Given the description of an element on the screen output the (x, y) to click on. 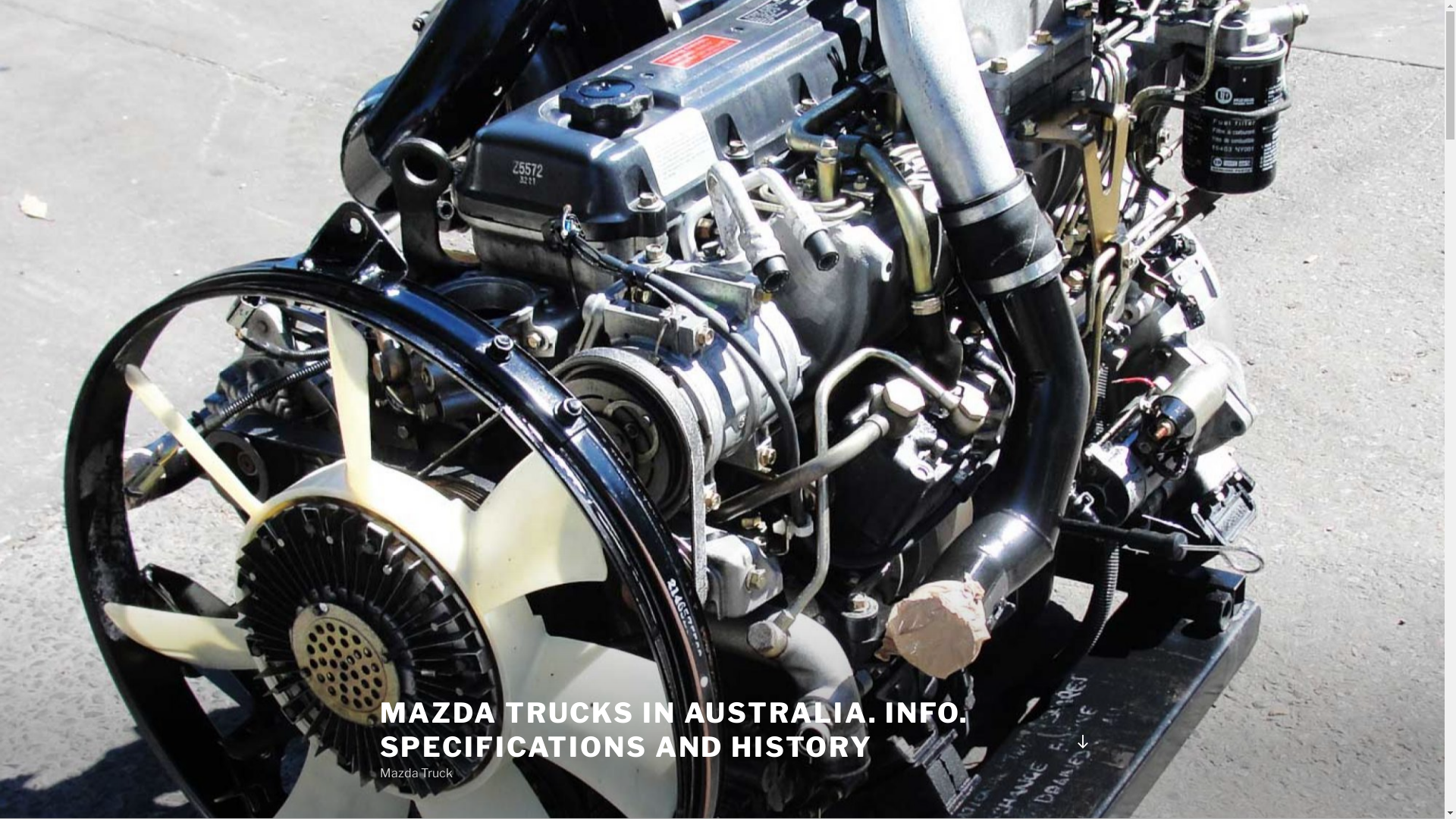
Scroll down to content Element type: text (1082, 741)
MAZDA TRUCKS IN AUSTRALIA. INFO. SPECIFICATIONS AND HISTORY Element type: text (673, 729)
